Given the description of an element on the screen output the (x, y) to click on. 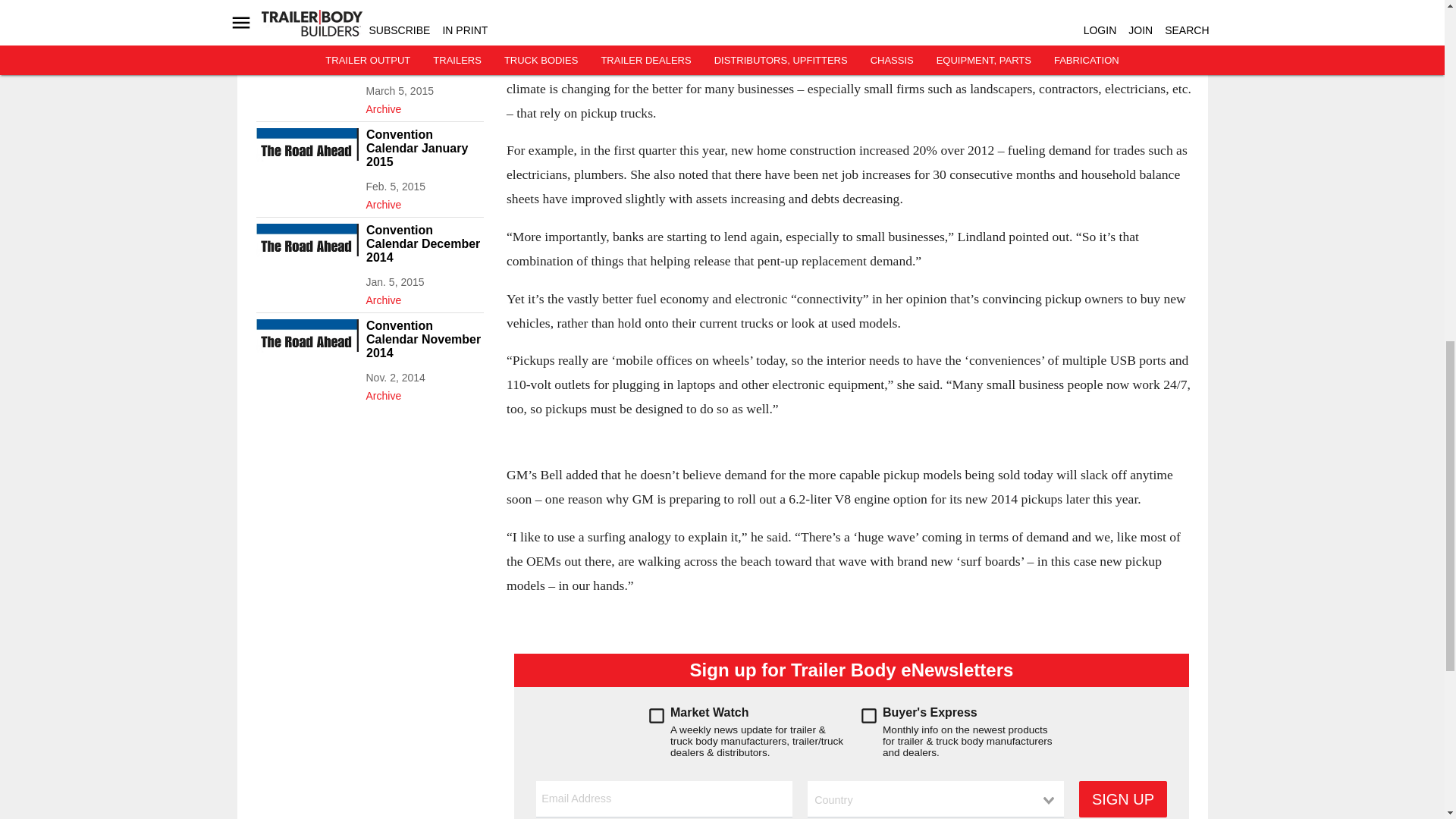
Image (307, 251)
Image (307, 347)
Image (307, 60)
Image (307, 156)
